Given the description of an element on the screen output the (x, y) to click on. 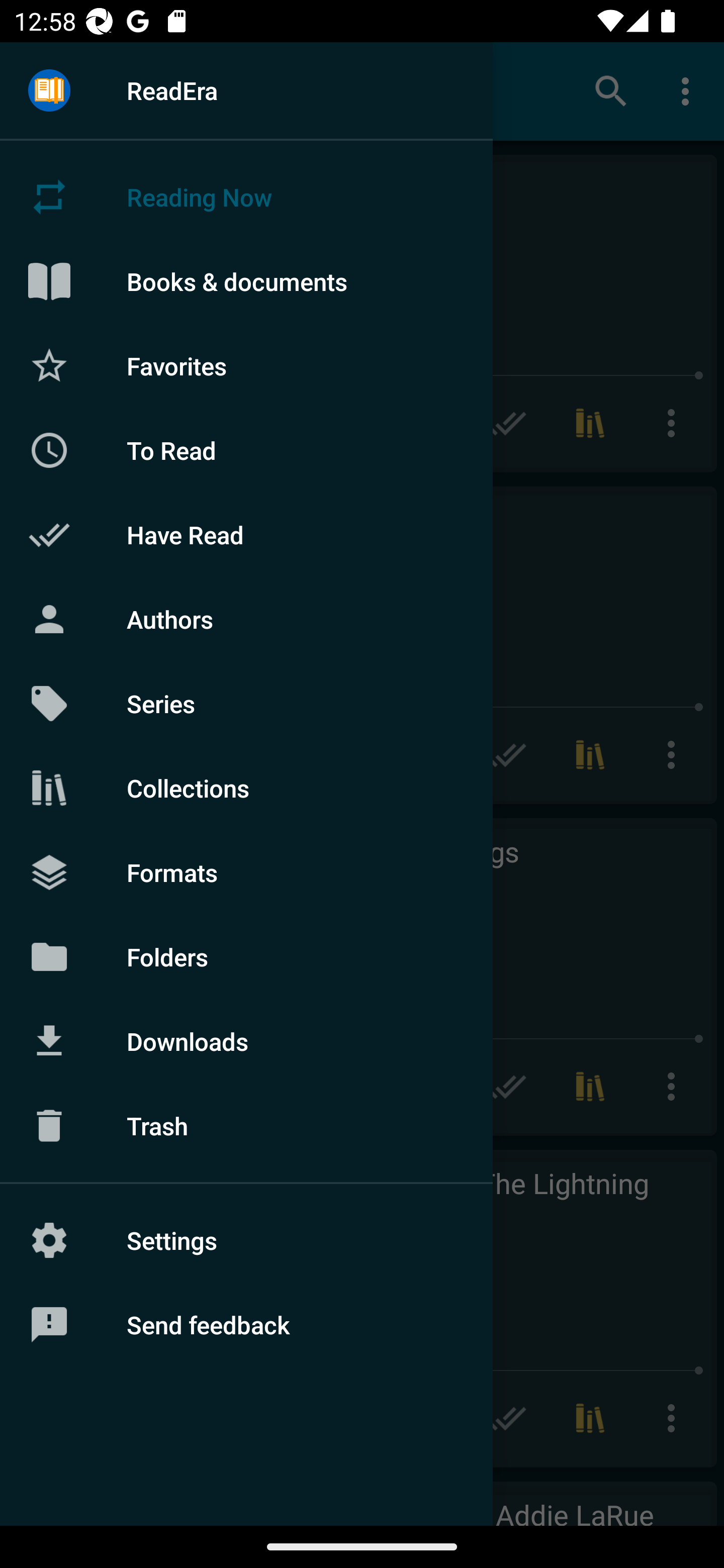
Menu (49, 91)
ReadEra (246, 89)
Search books & documents (611, 90)
More options (688, 90)
Reading Now (246, 197)
Books & documents (246, 281)
Favorites (246, 365)
To Read (246, 449)
Have Read (246, 534)
Authors (246, 619)
Series (246, 703)
Collections (246, 787)
Formats (246, 871)
Folders (246, 956)
Downloads (246, 1040)
Trash (246, 1125)
Settings (246, 1239)
Send feedback (246, 1324)
